Given the description of an element on the screen output the (x, y) to click on. 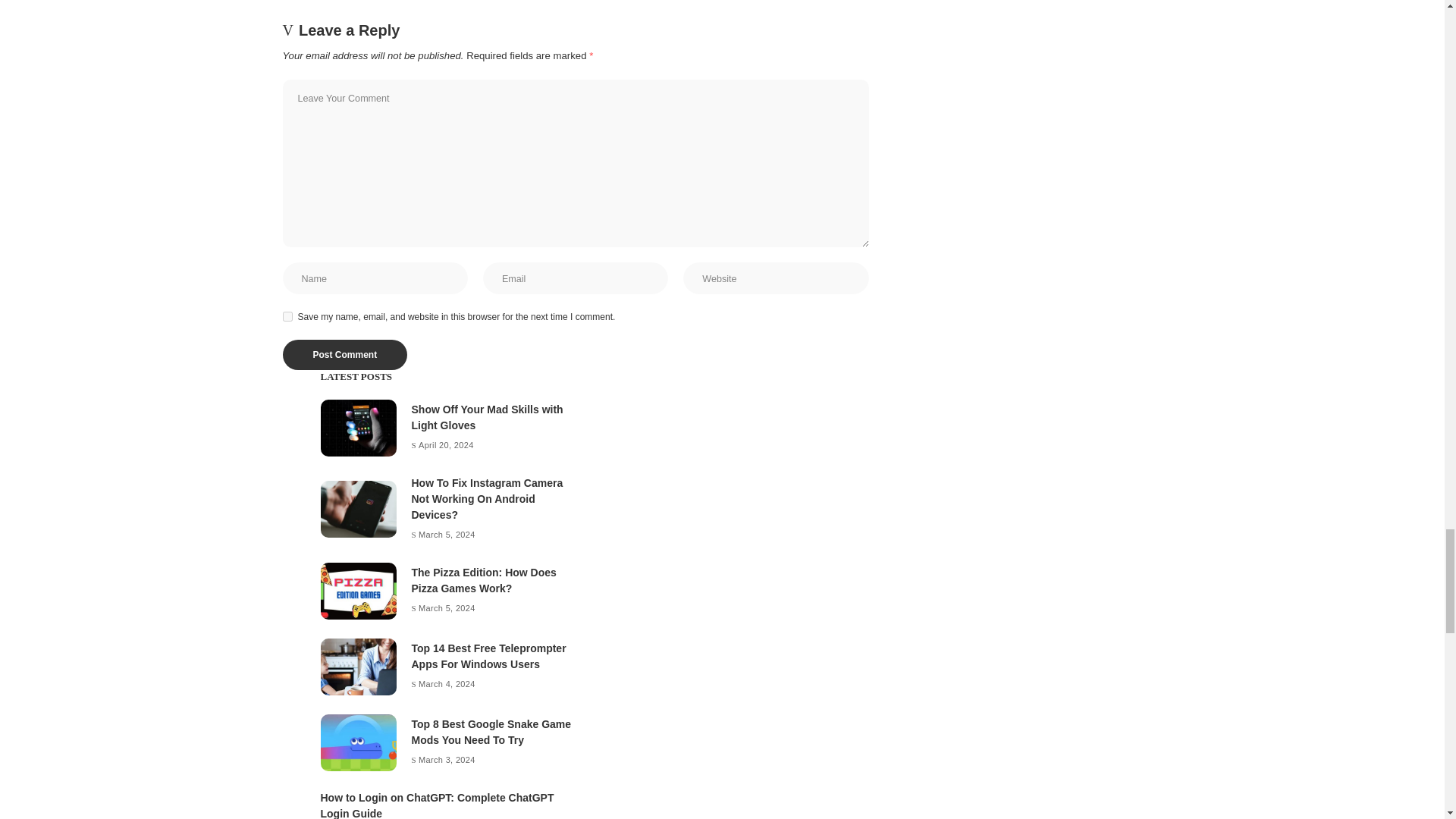
yes (287, 316)
Post Comment (344, 354)
